Given the description of an element on the screen output the (x, y) to click on. 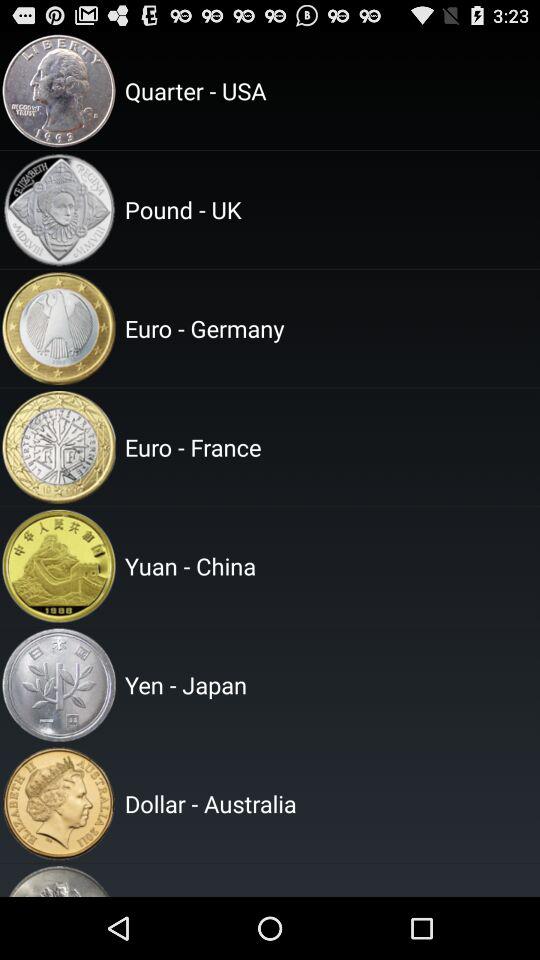
flip until rupee - india item (329, 879)
